Given the description of an element on the screen output the (x, y) to click on. 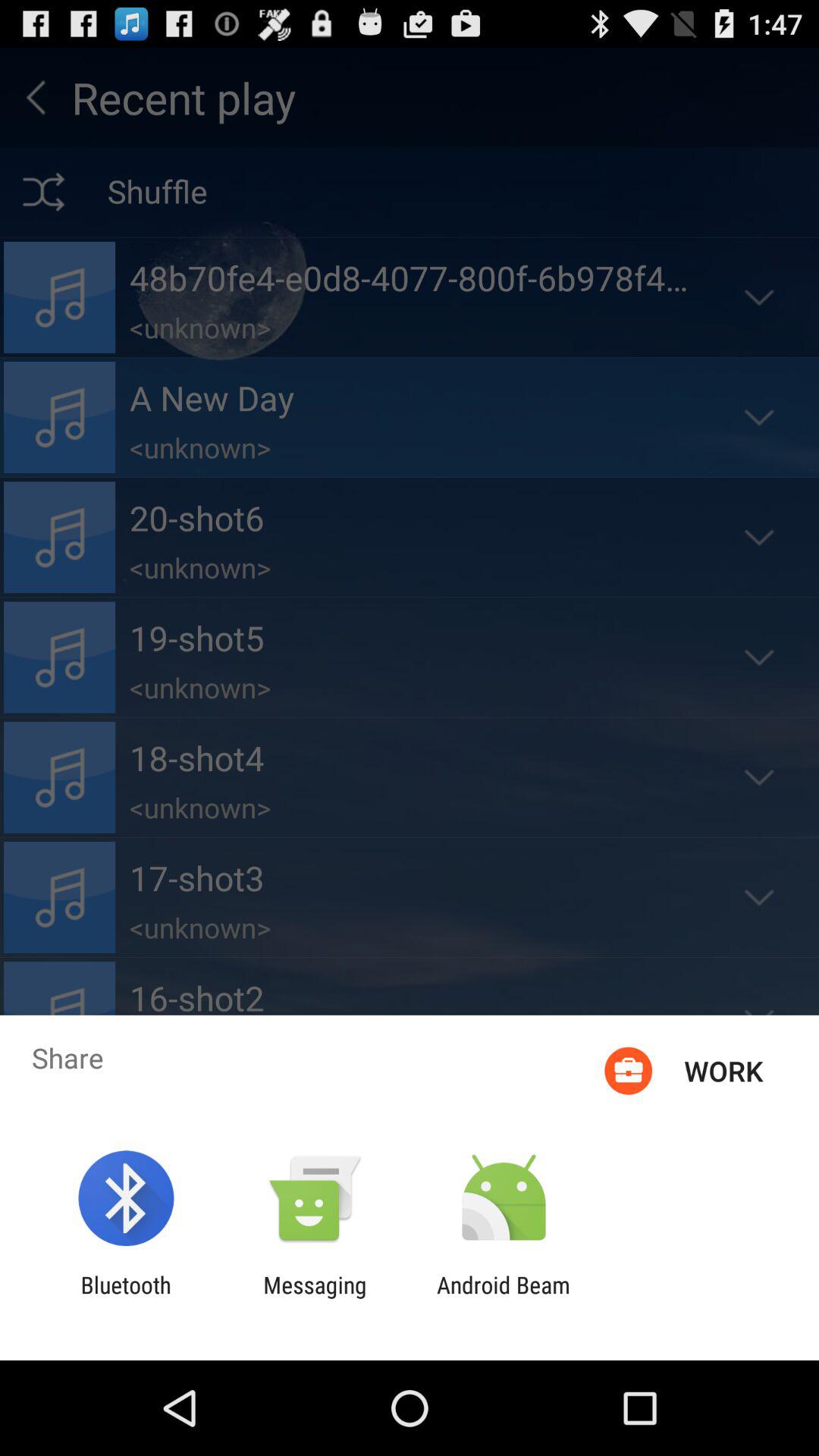
swipe until the messaging icon (314, 1298)
